Given the description of an element on the screen output the (x, y) to click on. 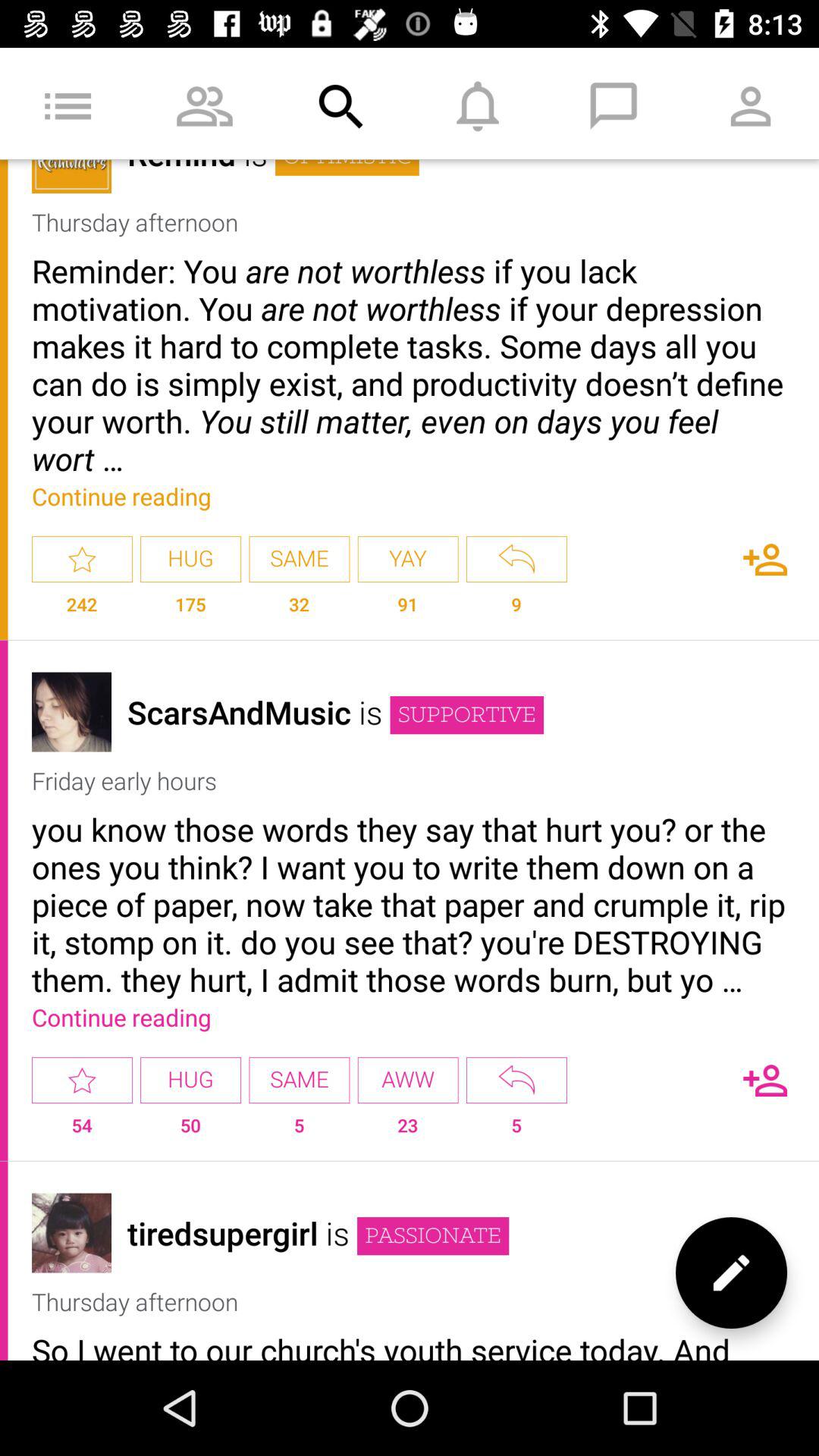
open the so i went (409, 1344)
